Given the description of an element on the screen output the (x, y) to click on. 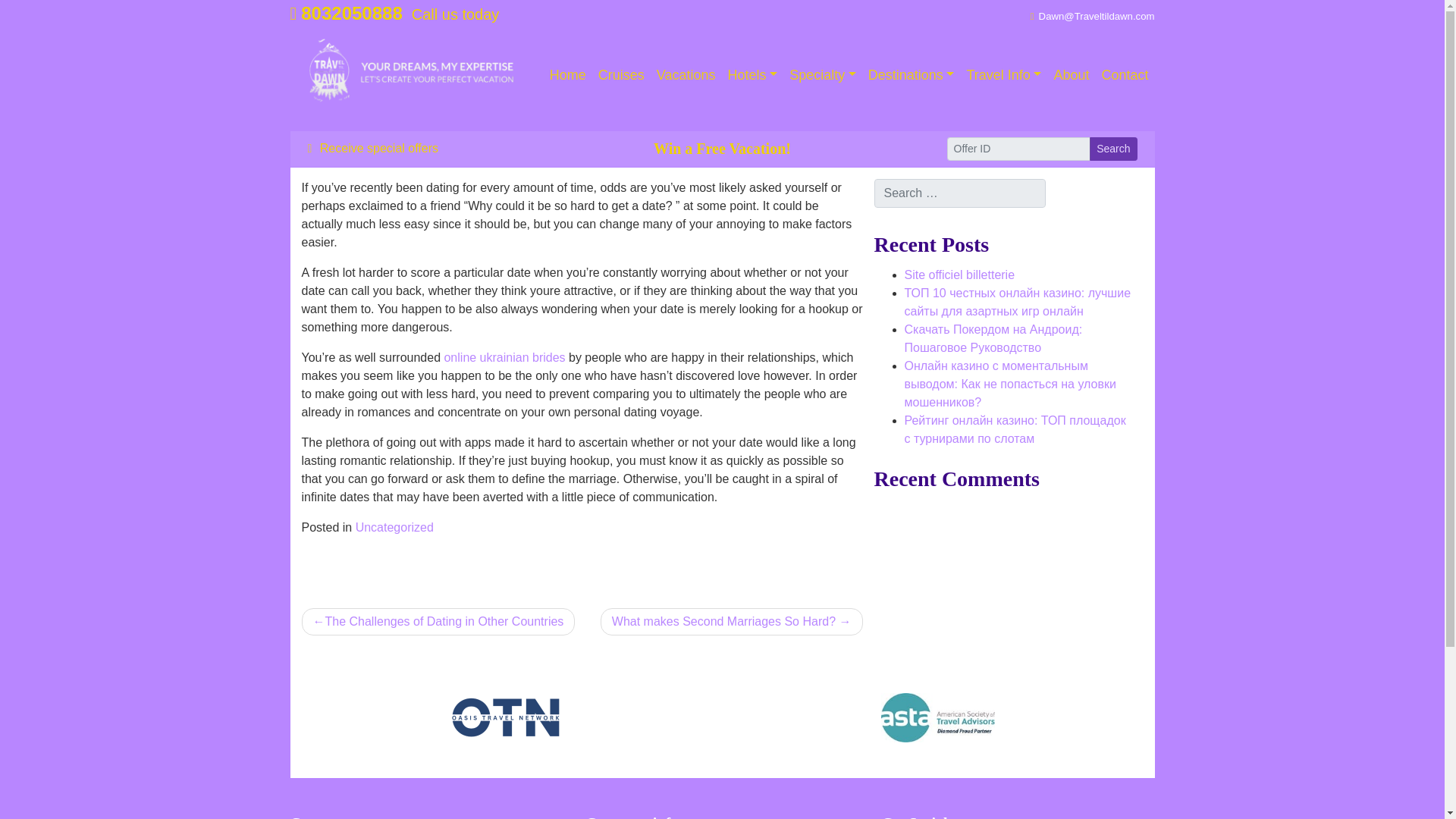
Cruises (621, 74)
Vacations (686, 74)
Specialty (822, 74)
8032050888 (345, 13)
Contact (1124, 74)
Hotels (753, 74)
Destinations (910, 74)
Home (567, 74)
Call us (345, 13)
Search for: (959, 193)
